Given the description of an element on the screen output the (x, y) to click on. 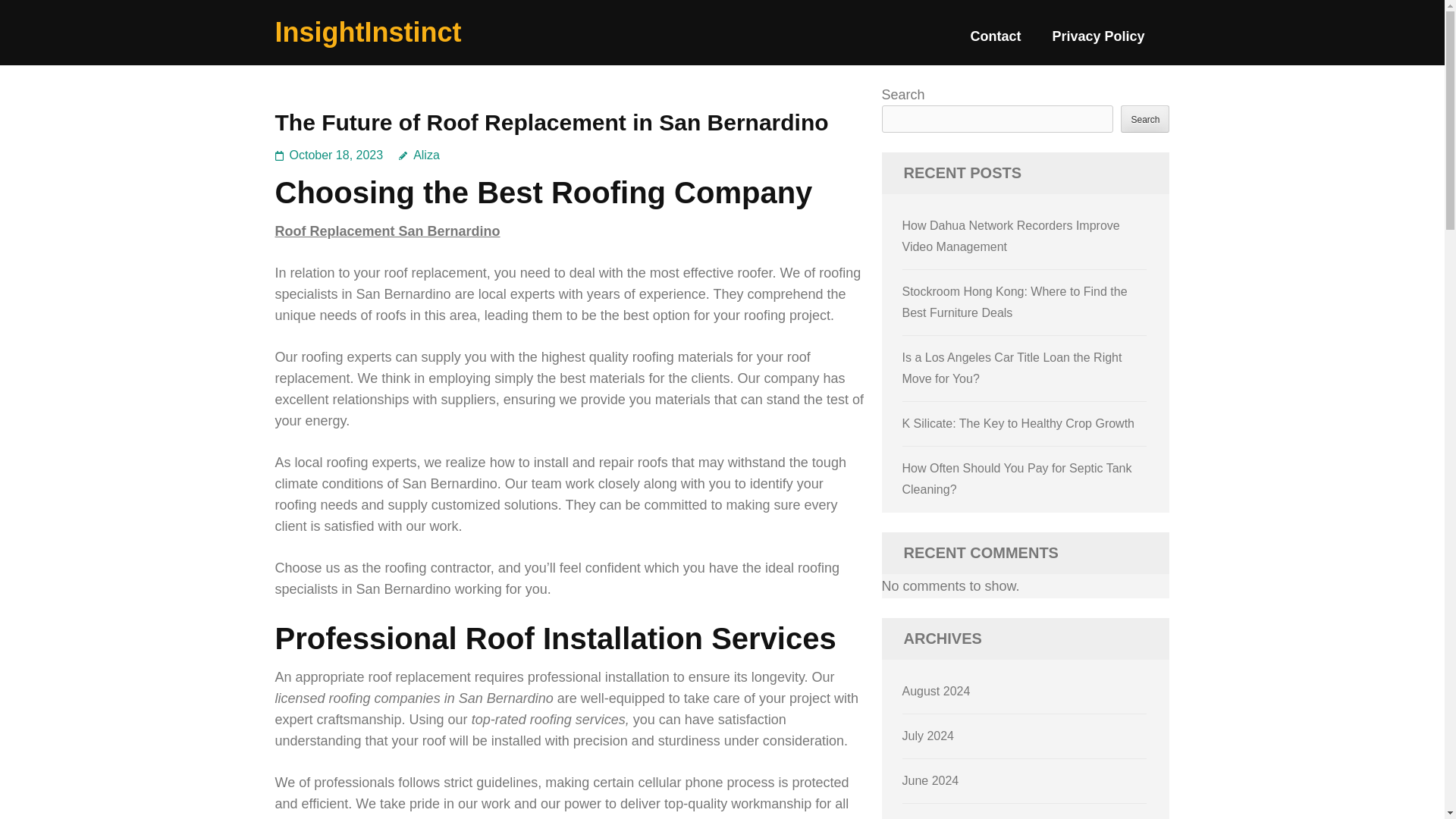
InsightInstinct (368, 31)
K Silicate: The Key to Healthy Crop Growth (1018, 422)
Privacy Policy (1097, 42)
Search (1145, 118)
Is a Los Angeles Car Title Loan the Right Move for You? (1012, 367)
July 2024 (928, 735)
Stockroom Hong Kong: Where to Find the Best Furniture Deals (1014, 302)
How Dahua Network Recorders Improve Video Management (1010, 236)
August 2024 (936, 690)
June 2024 (930, 780)
